Given the description of an element on the screen output the (x, y) to click on. 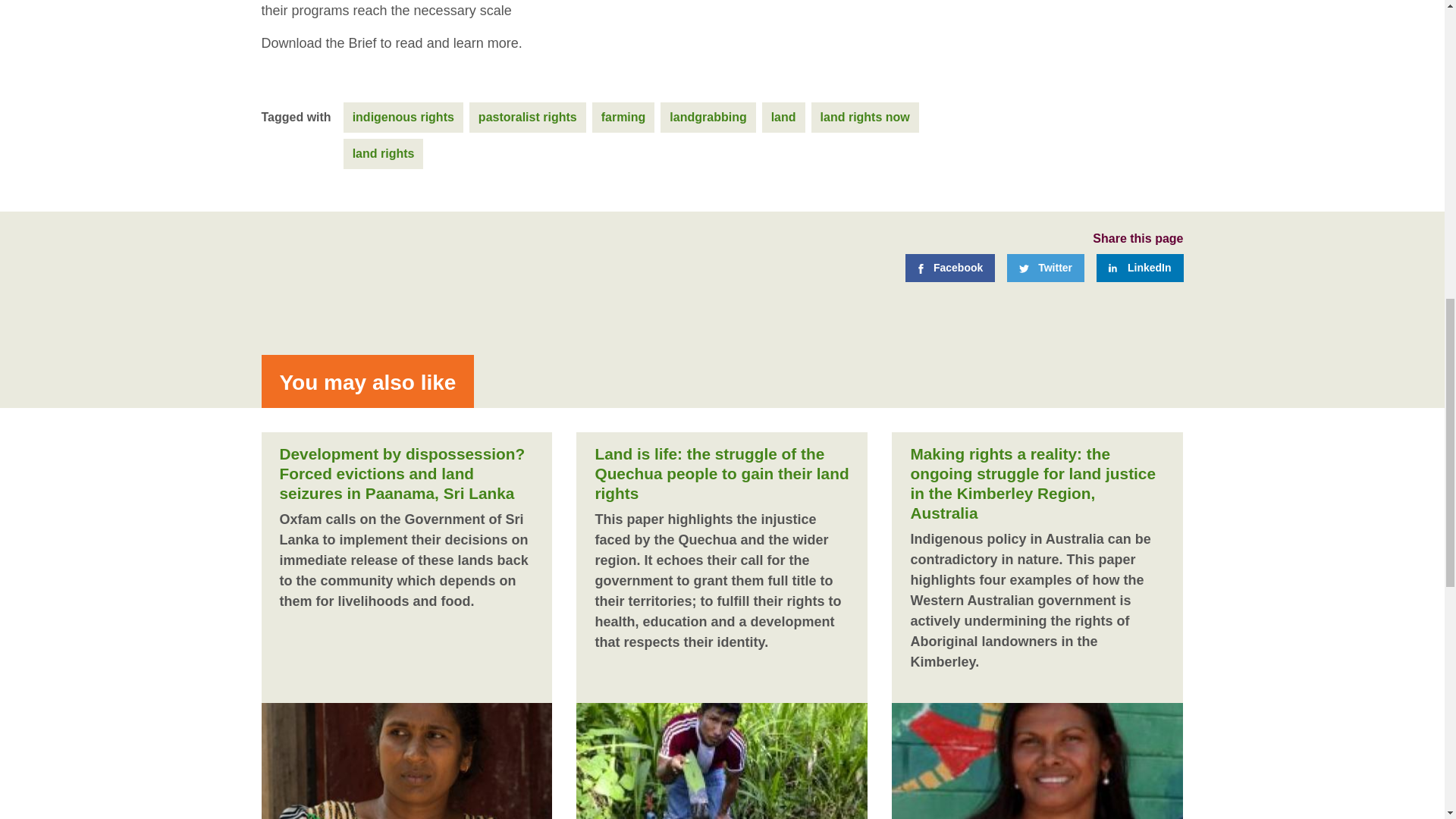
Cissy, land rights defender from Australia (1030, 759)
